Given the description of an element on the screen output the (x, y) to click on. 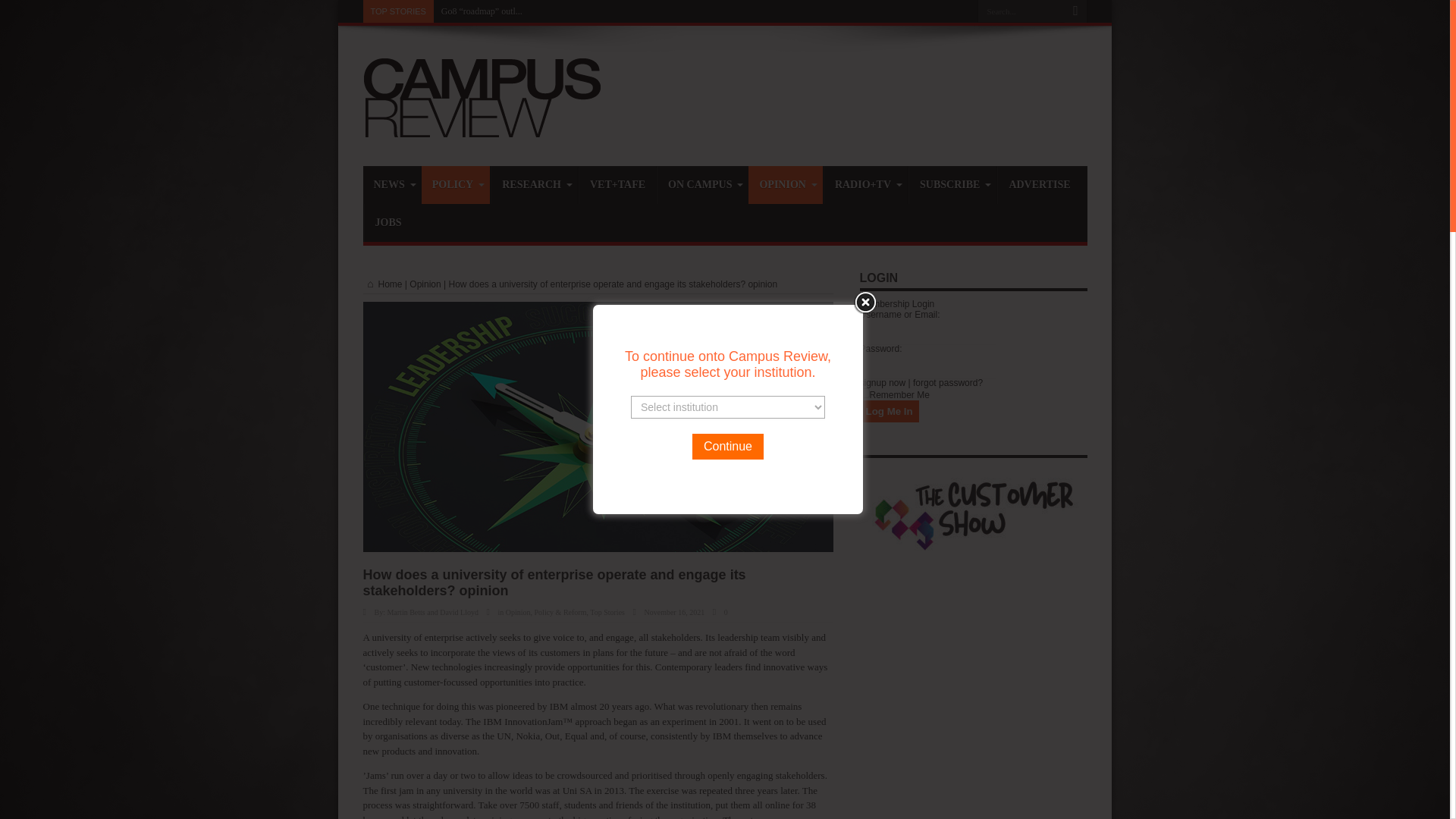
ADVERTISE (1038, 184)
ON CAMPUS (702, 184)
Close (864, 302)
RESEARCH (534, 184)
0 (725, 612)
POLICY (455, 184)
Username (927, 331)
Password (927, 365)
Home (381, 284)
Martin Betts and David Lloyd (433, 612)
OPINION (785, 184)
forever (864, 393)
Search (1075, 11)
Campus Review (481, 128)
SUBSCRIBE (951, 184)
